Given the description of an element on the screen output the (x, y) to click on. 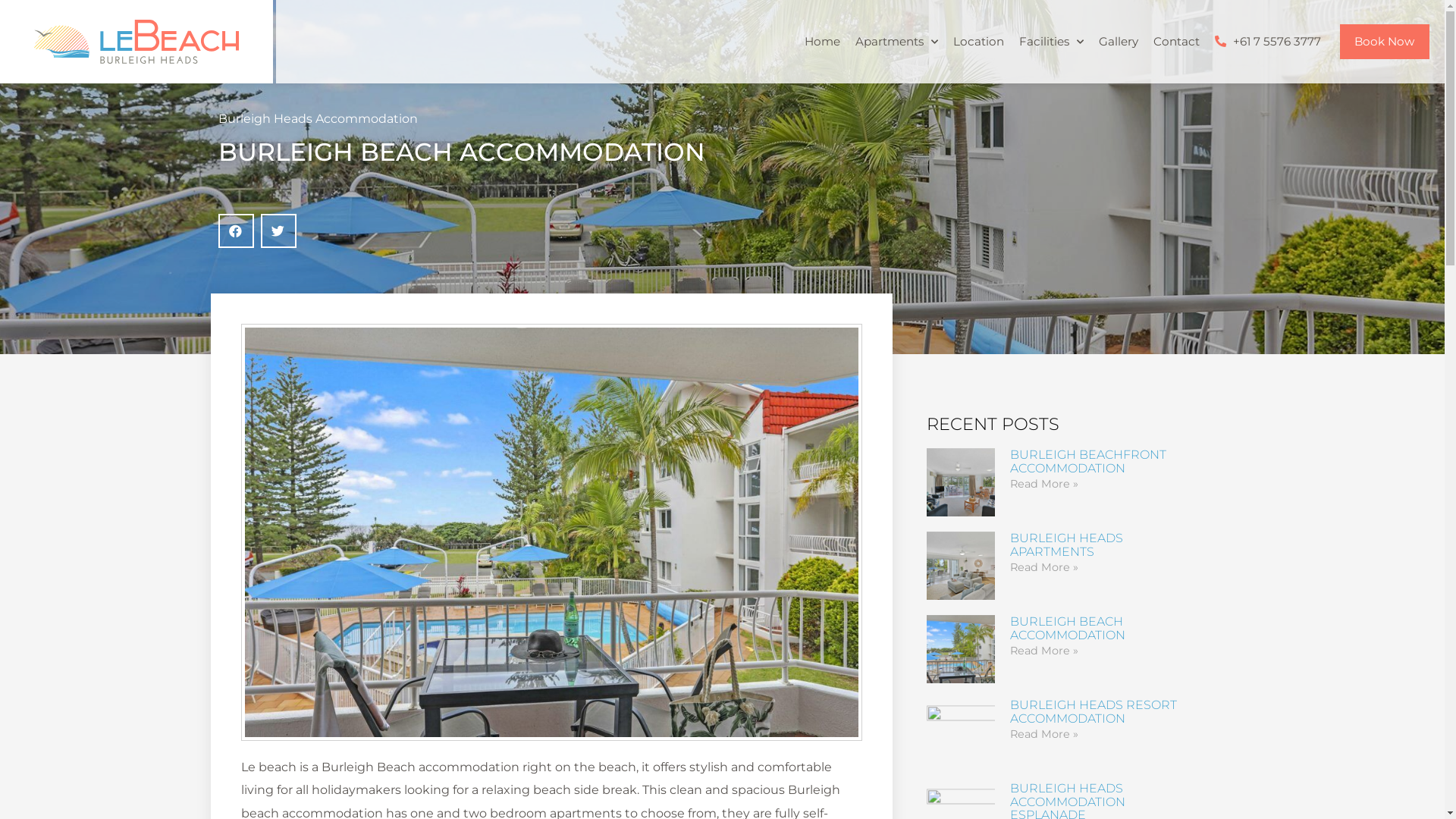
Gallery Element type: text (1117, 41)
Book Now Element type: text (1384, 41)
Home Element type: text (821, 41)
+61 7 5576 3777 Element type: text (1267, 41)
BURLEIGH HEADS RESORT ACCOMMODATION Element type: text (1093, 711)
BURLEIGH HEADS APARTMENTS Element type: text (1066, 544)
Contact Element type: text (1175, 41)
BURLEIGH BEACH ACCOMMODATION Element type: text (1067, 628)
BURLEIGH BEACHFRONT ACCOMMODATION Element type: text (1088, 461)
Location Element type: text (977, 41)
Apartments Element type: text (896, 41)
Burleigh Heads Accommodation Element type: text (317, 118)
Facilities Element type: text (1051, 41)
